Given the description of an element on the screen output the (x, y) to click on. 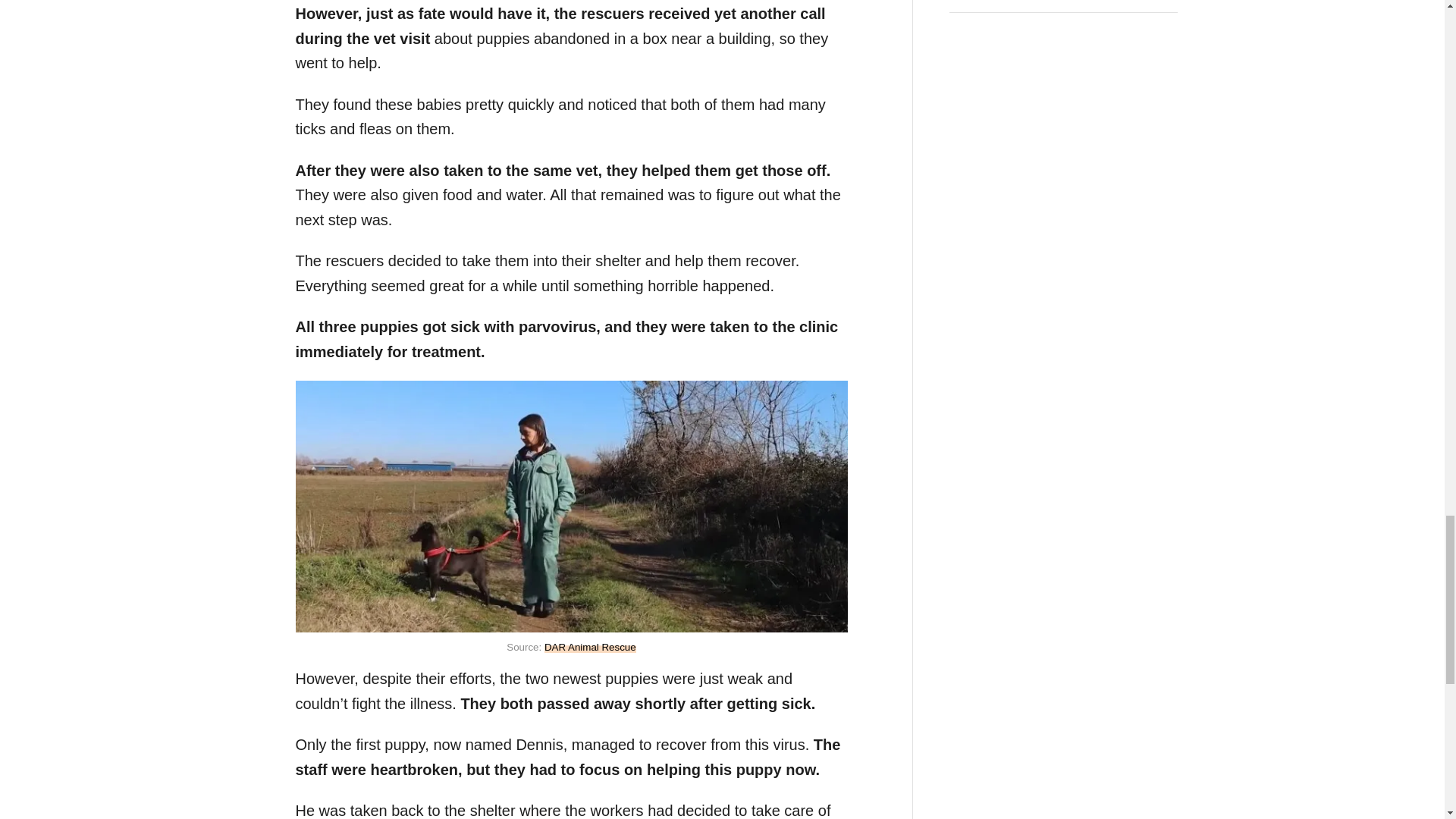
DAR Animal Rescue (590, 646)
